Given the description of an element on the screen output the (x, y) to click on. 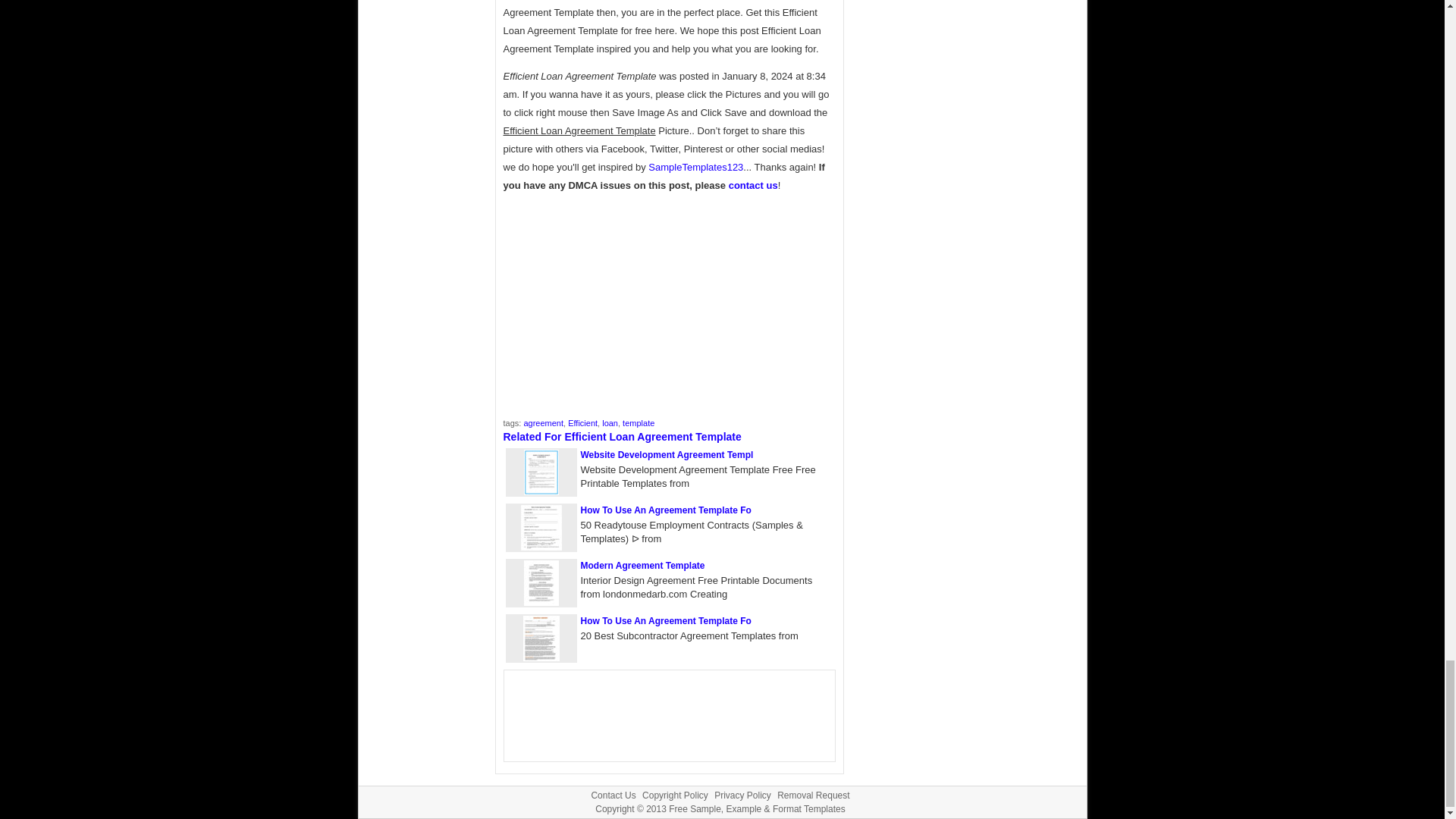
Website Development Agreement Template (539, 491)
How To Use An Agreement Template Fo (665, 620)
Website Development Agreement Templ (667, 454)
How To Use An Agreement Template For Employee Contracts (539, 546)
SampleTemplates123 (694, 166)
Modern Agreement Template (642, 565)
Modern Agreement Template (642, 565)
Modern Agreement Template (539, 602)
template (638, 422)
Website Development Agreement Template (667, 454)
How To Use An Agreement Template Fo (665, 510)
How To Use An Agreement Template For Employee Contracts (665, 510)
loan (609, 422)
agreement (542, 422)
